Given the description of an element on the screen output the (x, y) to click on. 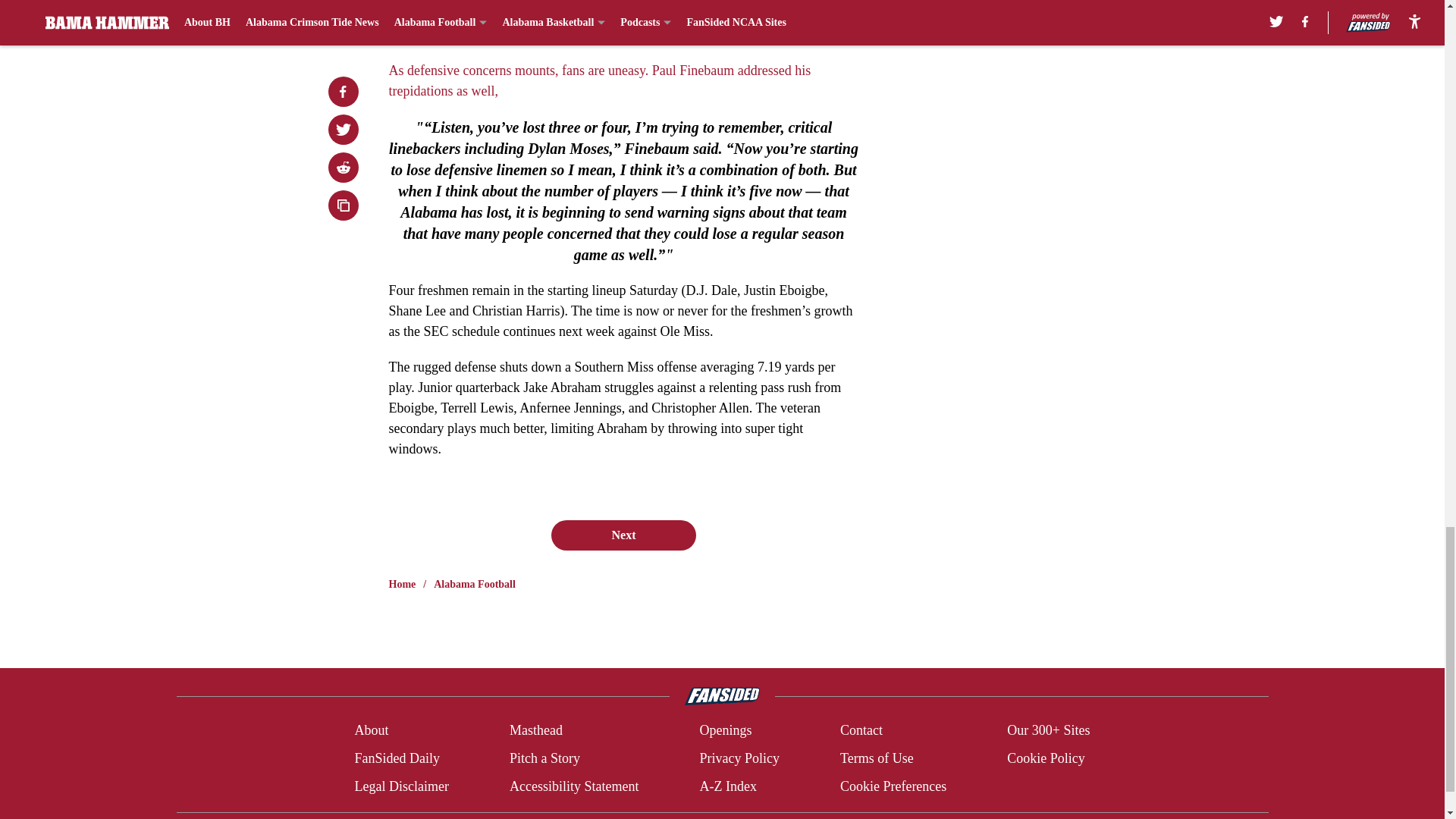
Pitch a Story (544, 758)
Next (622, 535)
Home (401, 584)
About (370, 730)
Masthead (535, 730)
FanSided Daily (396, 758)
Contact (861, 730)
Privacy Policy (738, 758)
Openings (724, 730)
